Given the description of an element on the screen output the (x, y) to click on. 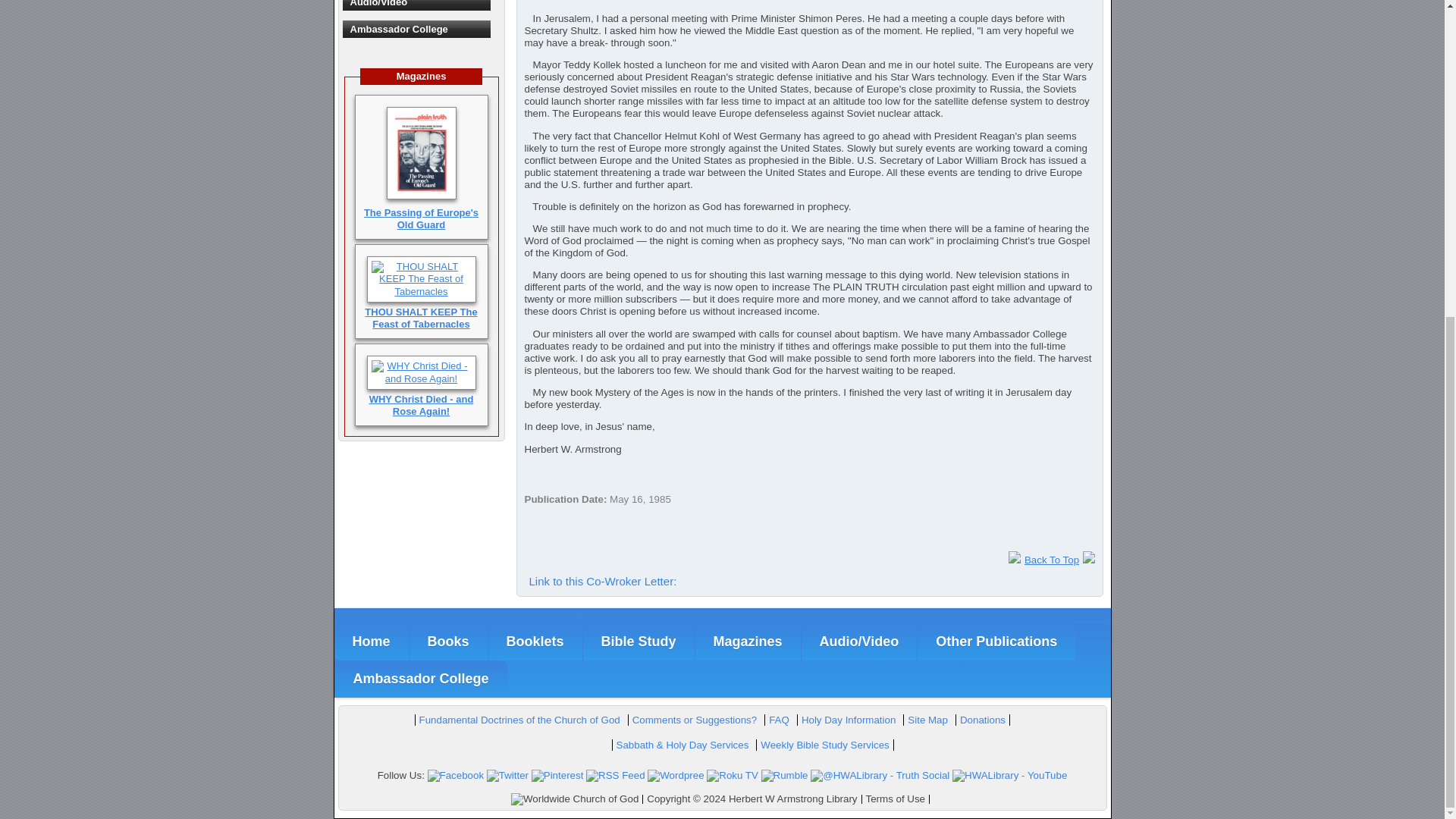
Link to this Co-Wroker Letter: (602, 581)
Click here to link to this Co-Wroker Letter. (602, 581)
HWALibrary - Facebook (456, 775)
HWALibrary - Pinterest (557, 775)
Worldwide Church of God (575, 799)
HWALibrary - Wordpress (675, 775)
HWALibrary - Roku TV (732, 775)
HWALibrary - RSS Feed (615, 775)
HWALibrary - Rumble (784, 775)
